Given the description of an element on the screen output the (x, y) to click on. 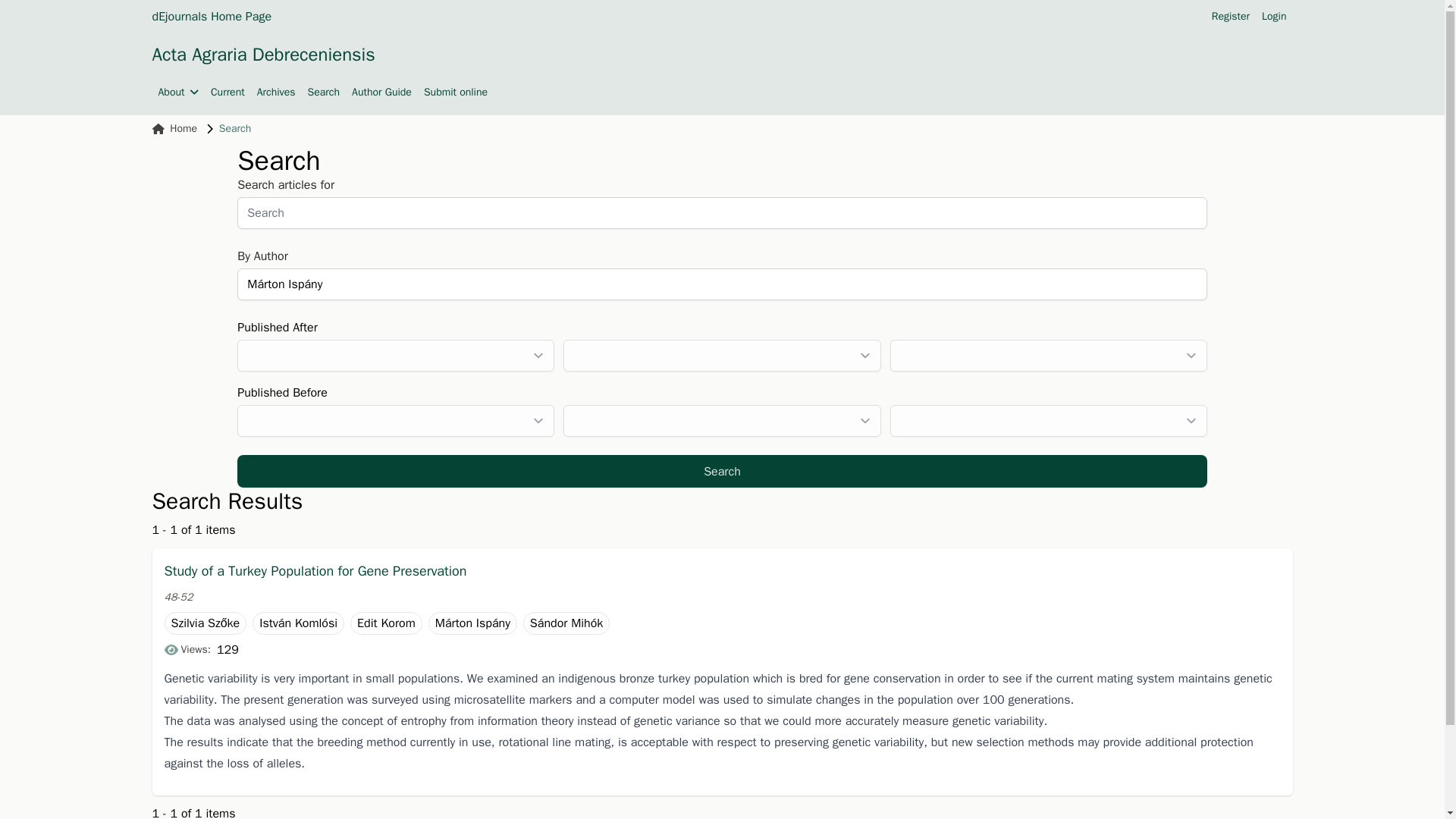
Archives (276, 92)
Submit online (455, 92)
Study of a Turkey Population for Gene Preservation (721, 570)
Acta Agraria Debreceniensis (262, 54)
Login (1273, 16)
Author Guide (382, 92)
dEjournals Home Page (210, 16)
Current (227, 92)
Register (1230, 16)
Search (722, 471)
